Given the description of an element on the screen output the (x, y) to click on. 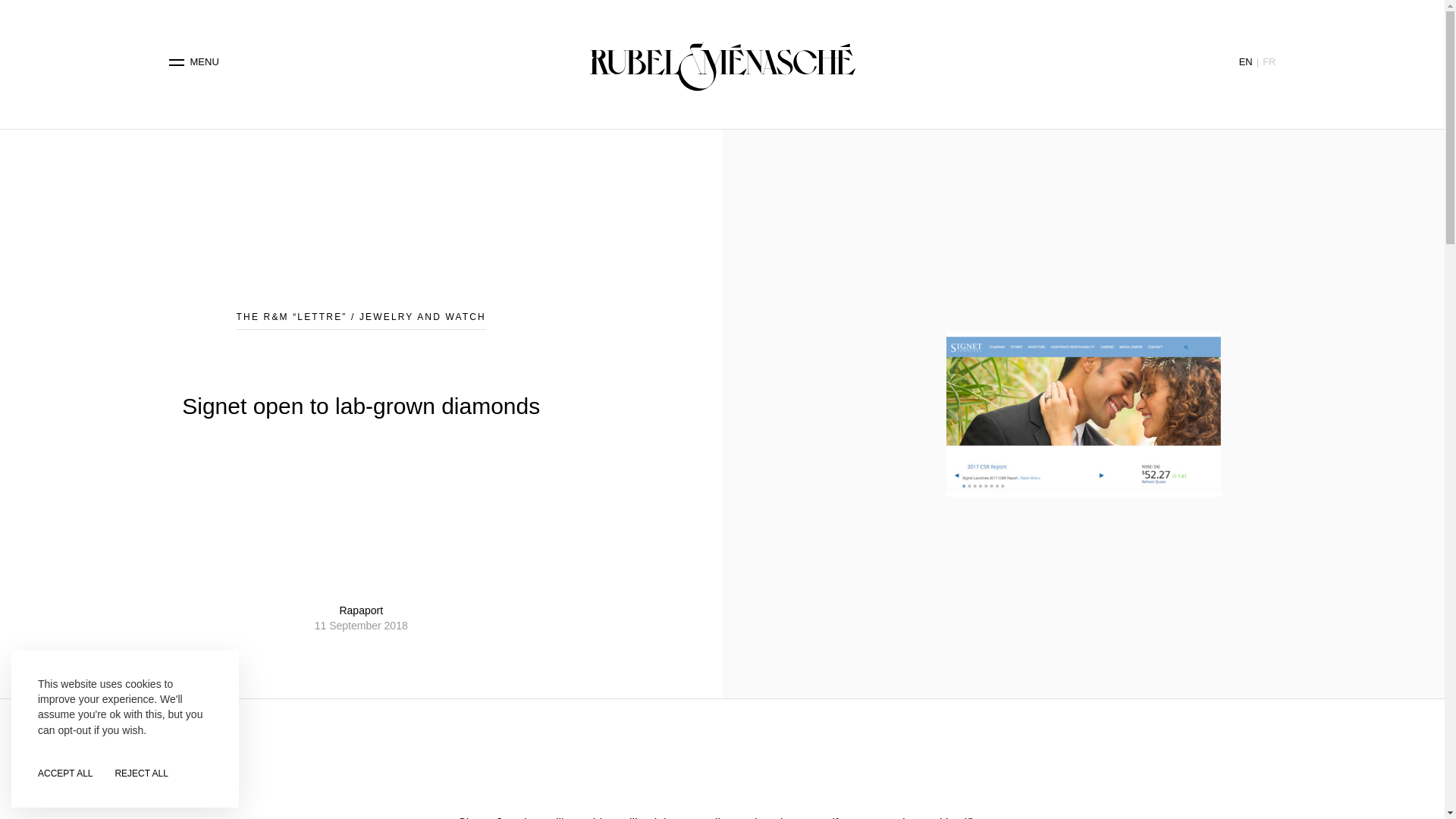
EN (1245, 61)
FR (1268, 61)
ACCEPT ALL (65, 773)
REJECT ALL (141, 773)
MENU (194, 61)
